Given the description of an element on the screen output the (x, y) to click on. 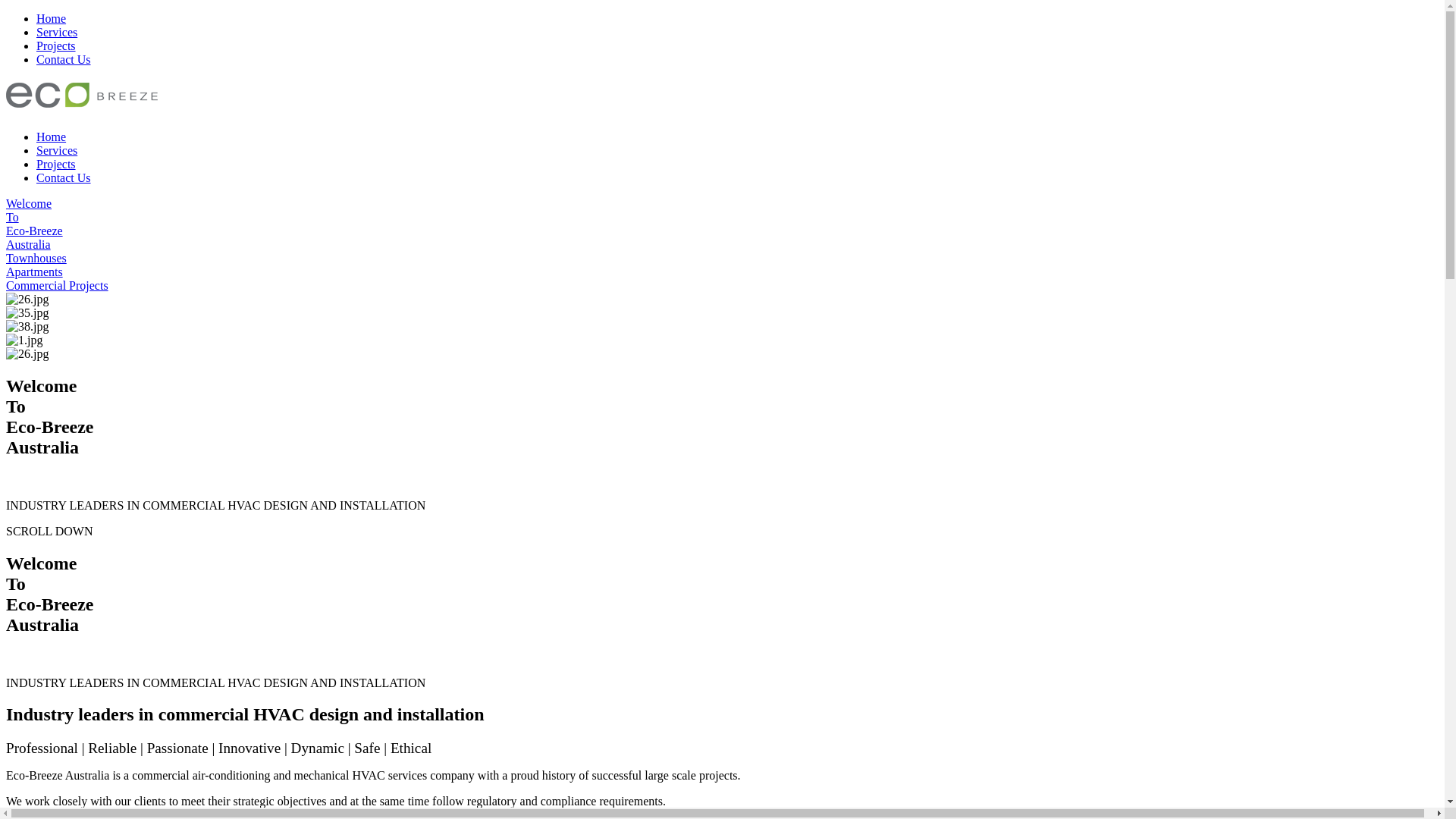
Townhouses Element type: text (722, 258)
Services Element type: text (56, 150)
Commercial Projects Element type: text (722, 285)
Services Element type: text (56, 31)
Home Element type: text (50, 136)
Projects Element type: text (55, 163)
Projects Element type: text (55, 45)
Apartments Element type: text (722, 272)
Contact Us Element type: text (63, 59)
Contact Us Element type: text (63, 177)
Welcome
To
Eco-Breeze
Australia Element type: text (722, 224)
Home Element type: text (50, 18)
